Given the description of an element on the screen output the (x, y) to click on. 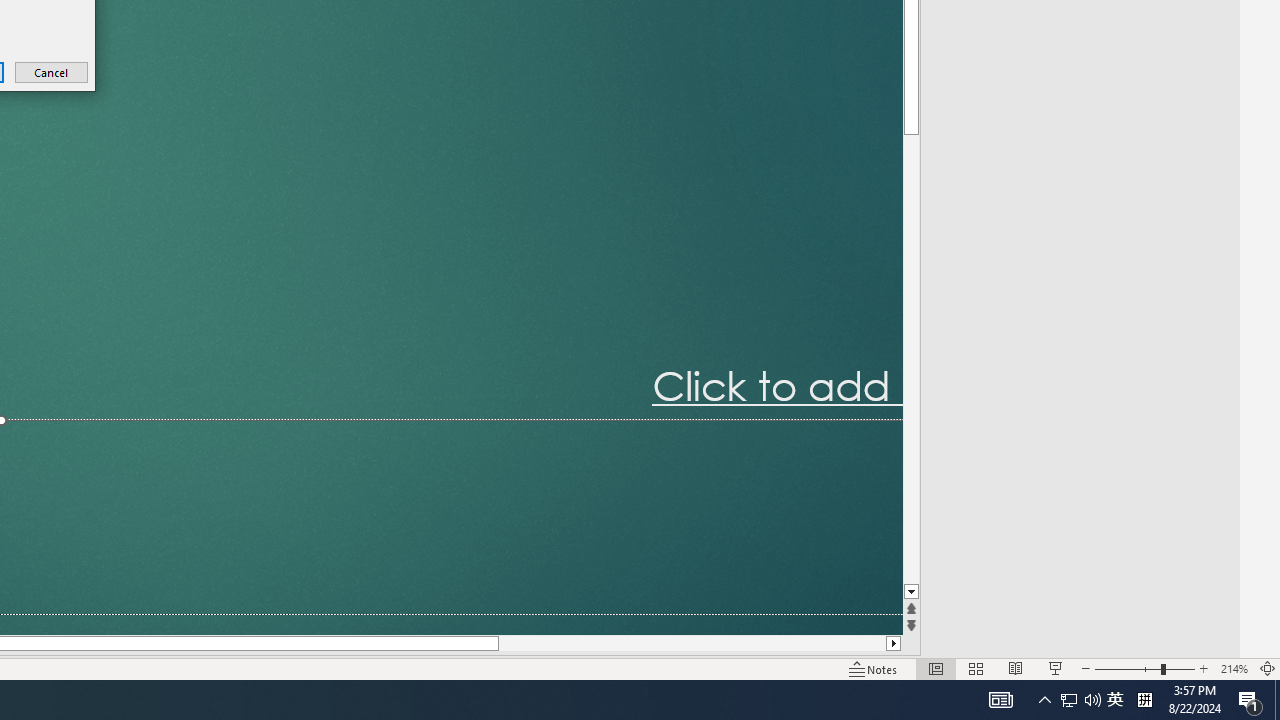
Cancel (51, 72)
Zoom 214% (1234, 668)
